Given the description of an element on the screen output the (x, y) to click on. 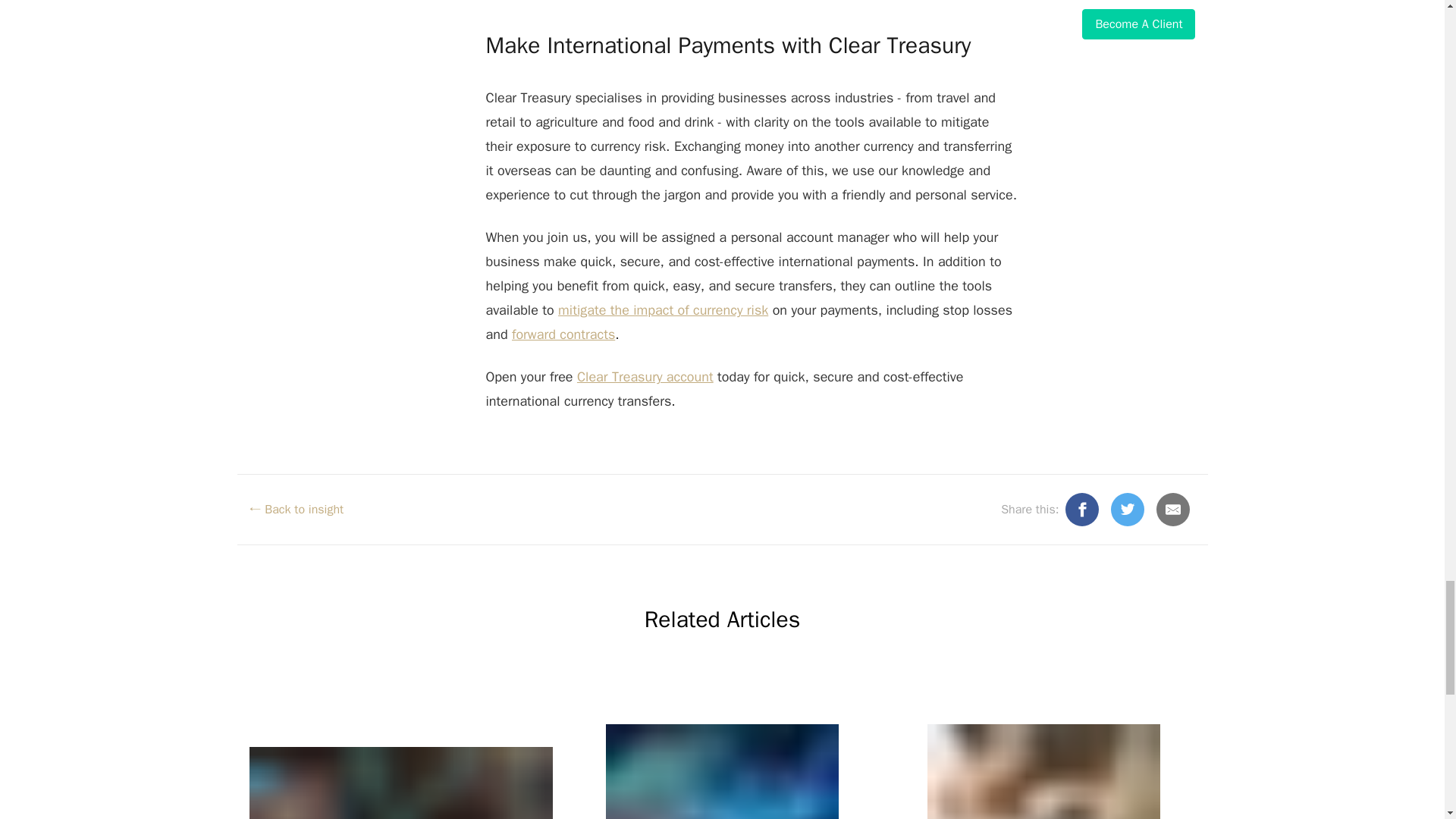
Clear Treasury account (644, 376)
mitigate the impact of currency risk (662, 310)
forward contracts (563, 334)
